Given the description of an element on the screen output the (x, y) to click on. 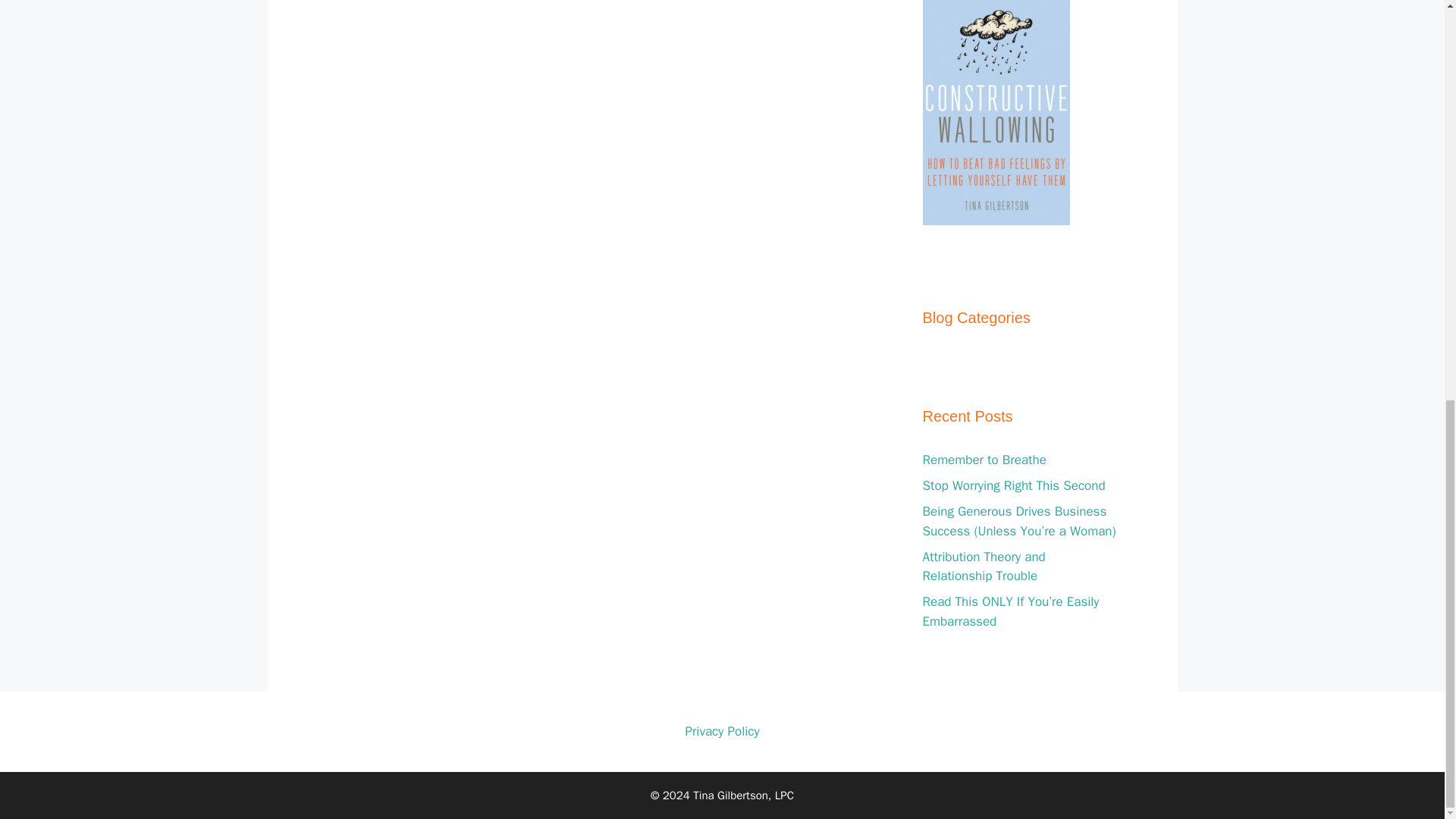
Stop Worrying Right This Second (1013, 485)
Scroll back to top (1406, 756)
Remember to Breathe (983, 459)
